Given the description of an element on the screen output the (x, y) to click on. 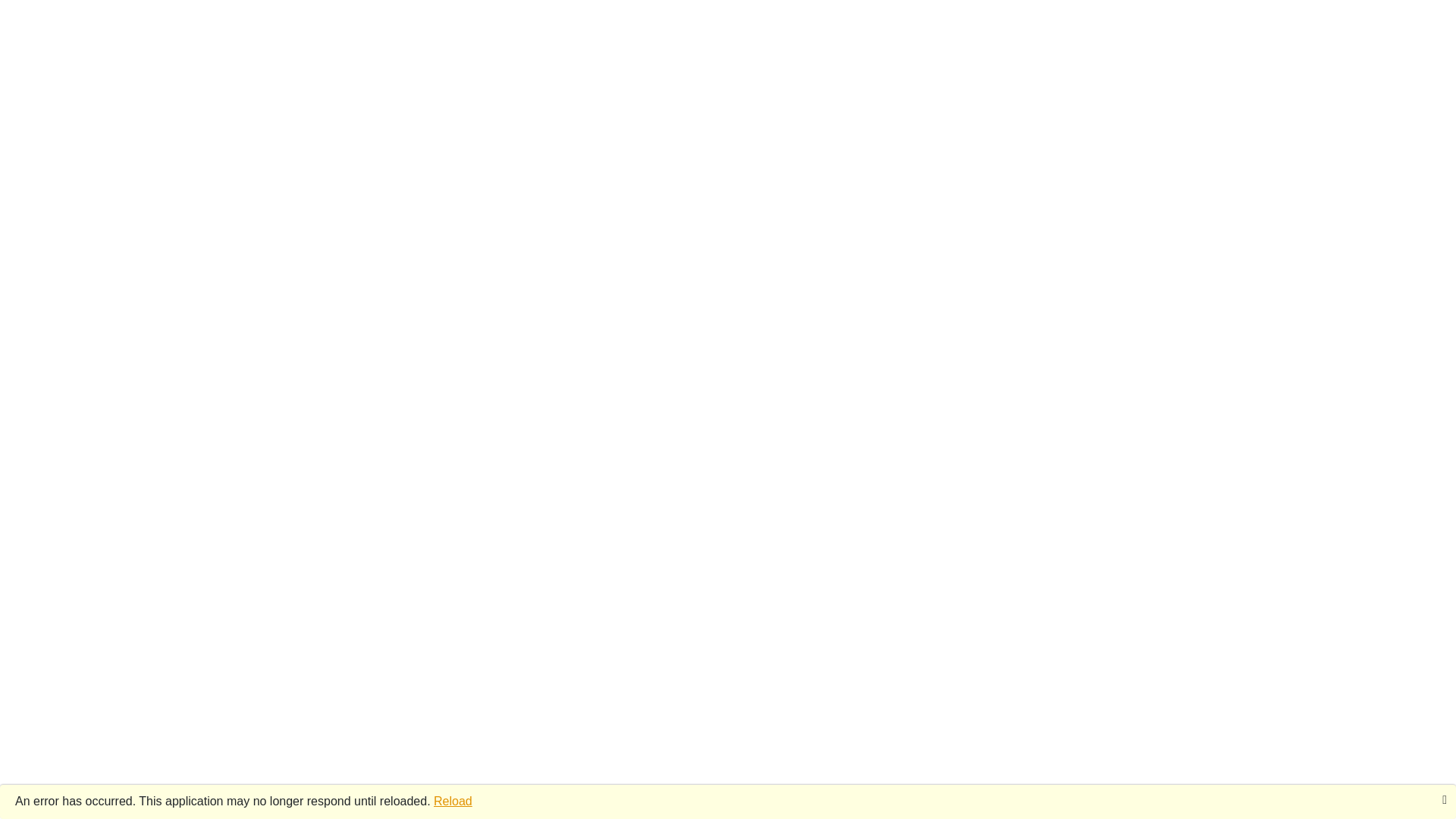
Reload Element type: text (452, 800)
